Given the description of an element on the screen output the (x, y) to click on. 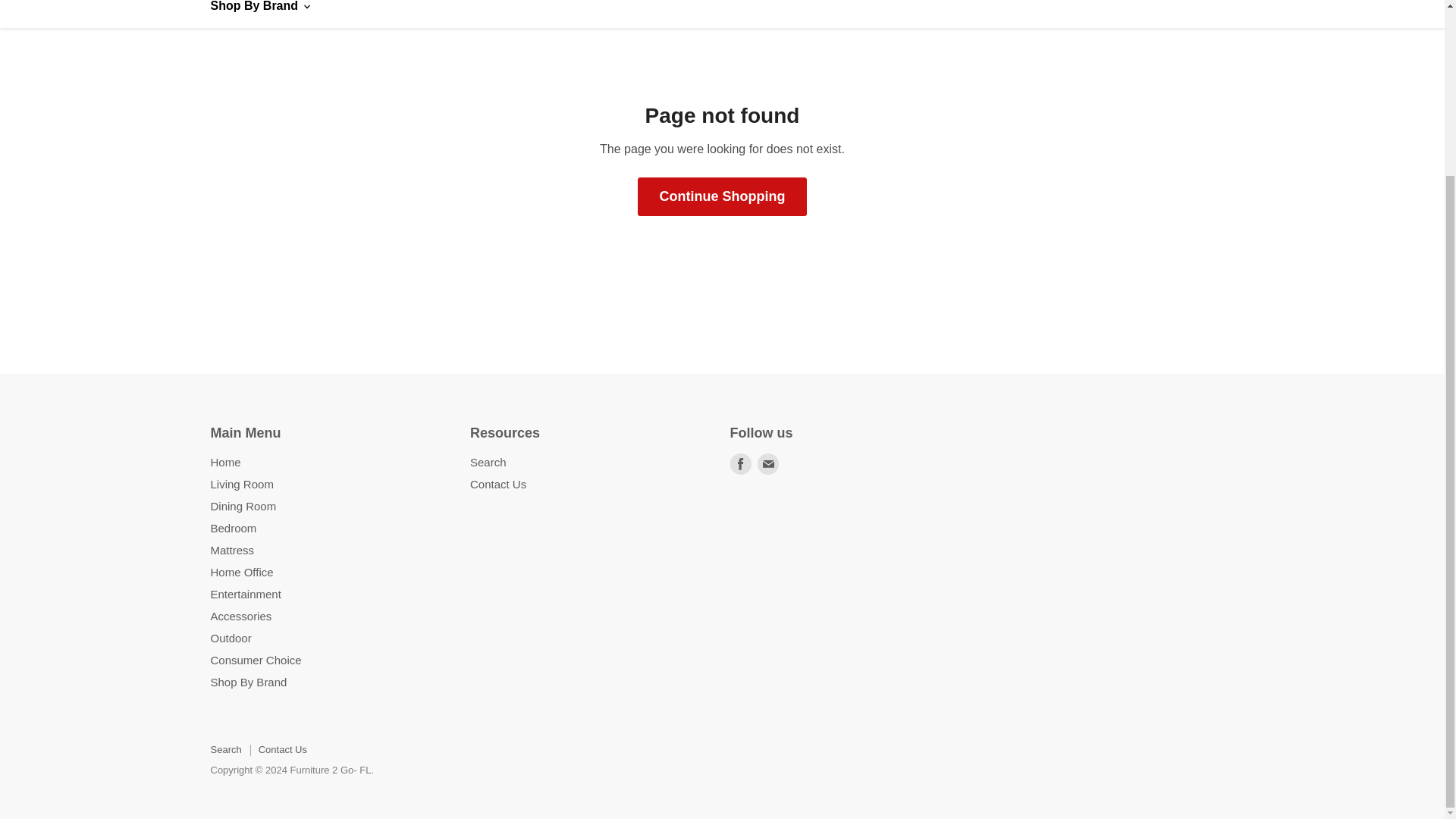
E-mail (767, 464)
Facebook (740, 464)
